Given the description of an element on the screen output the (x, y) to click on. 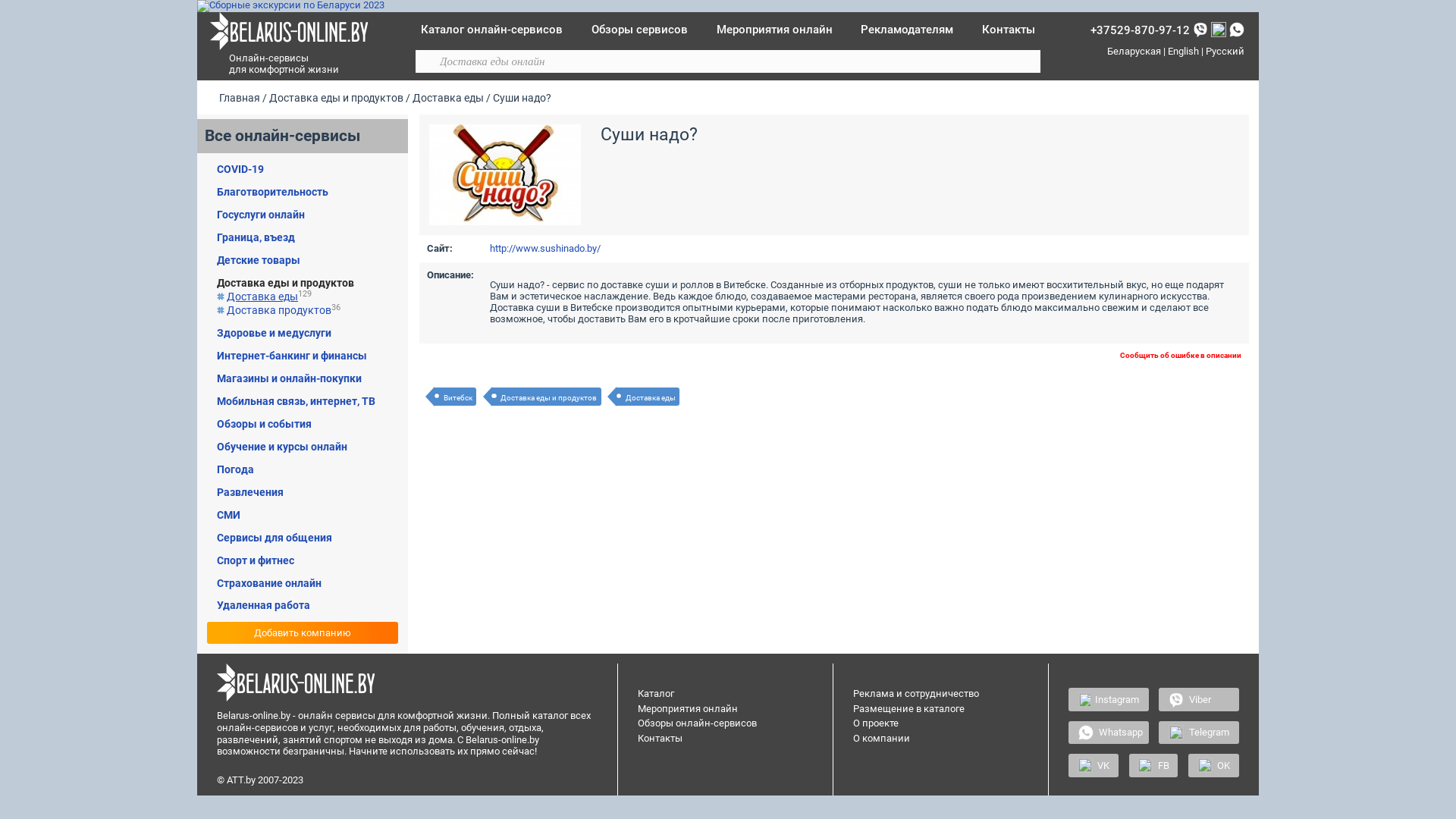
http://www.sushinado.by/ Element type: text (544, 248)
Telegram Element type: text (1198, 732)
Whatsapp Element type: text (1108, 732)
English Element type: text (1182, 50)
Viber Element type: text (1198, 698)
+37529-870-97-12 Element type: text (1139, 30)
FB Element type: text (1153, 764)
OK Element type: text (1213, 764)
Instagram Element type: text (1108, 698)
VK Element type: text (1093, 764)
COVID-19 Element type: text (239, 169)
